Given the description of an element on the screen output the (x, y) to click on. 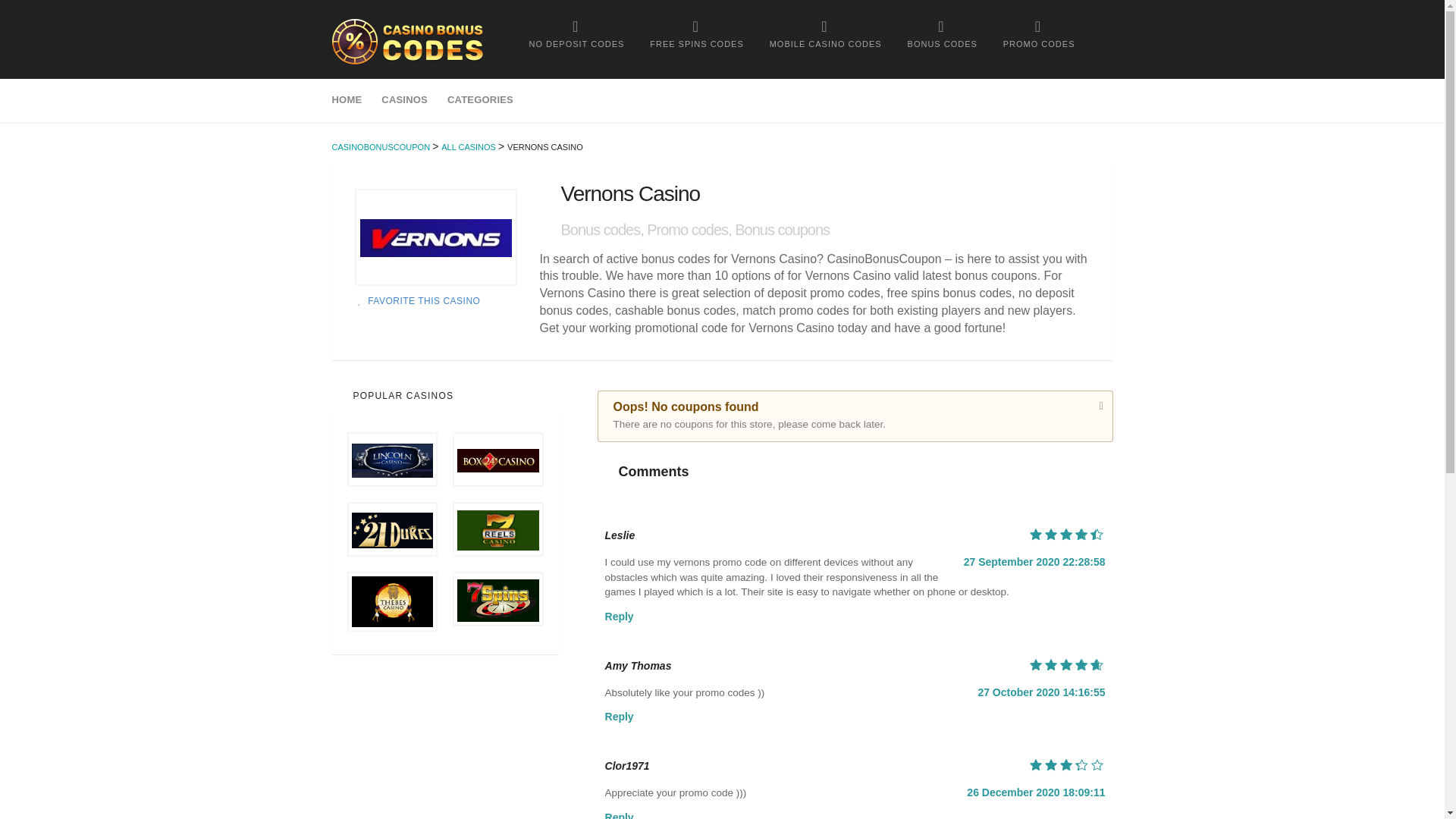
7reels-5 (497, 530)
loncoln-5 (392, 460)
21-dukes-1 (392, 529)
CasinoBonusCoupon (407, 40)
CASINOS (404, 100)
Skip to content (367, 86)
NO DEPOSIT CODES (576, 33)
box24-5 (497, 459)
All casinos (469, 146)
FAVORITE THIS CASINO (417, 300)
